Given the description of an element on the screen output the (x, y) to click on. 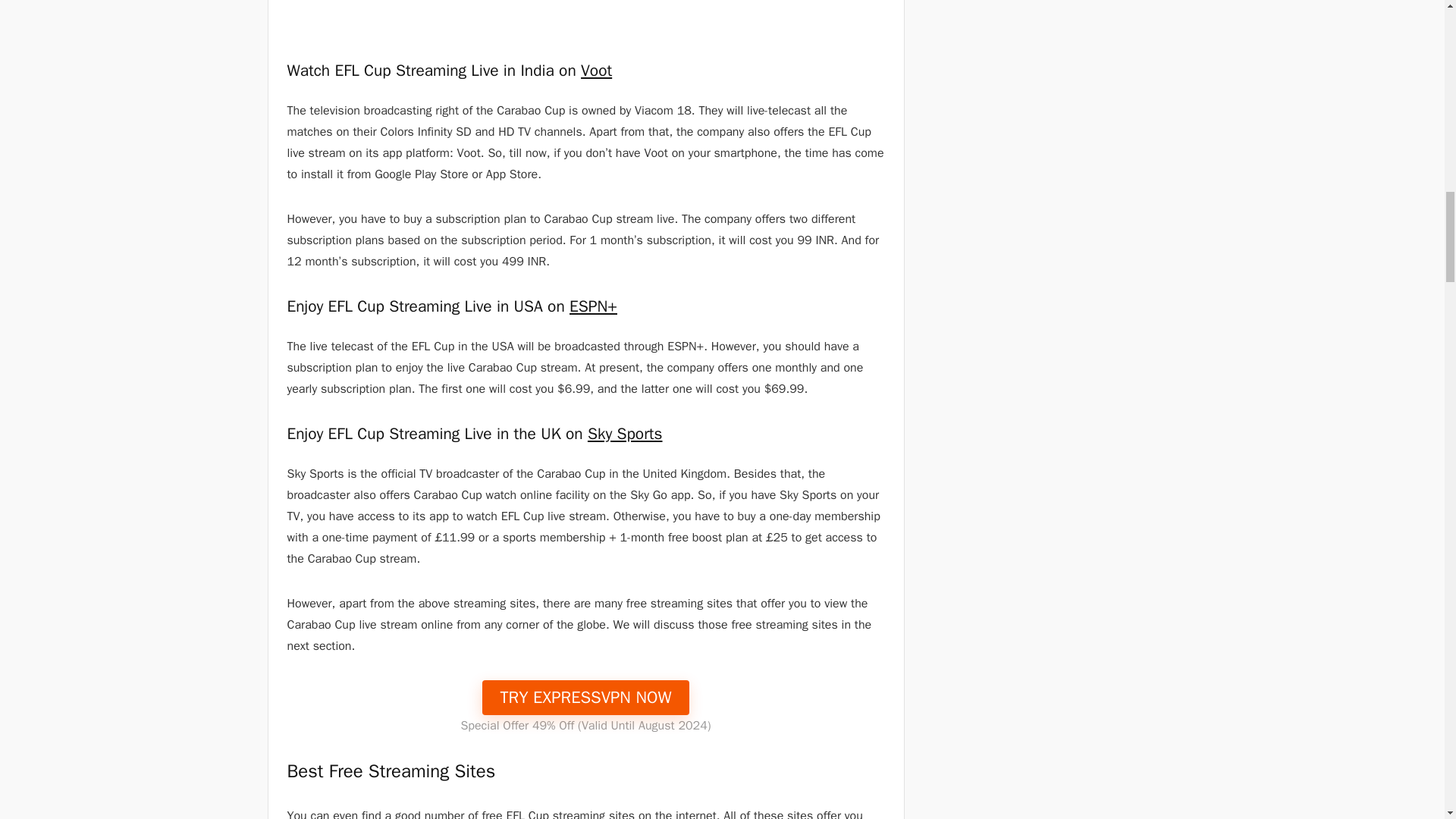
Voot (595, 70)
TRY EXPRESSVPN NOW (585, 696)
efl cup live stream (584, 18)
Sky Sports (625, 433)
